Given the description of an element on the screen output the (x, y) to click on. 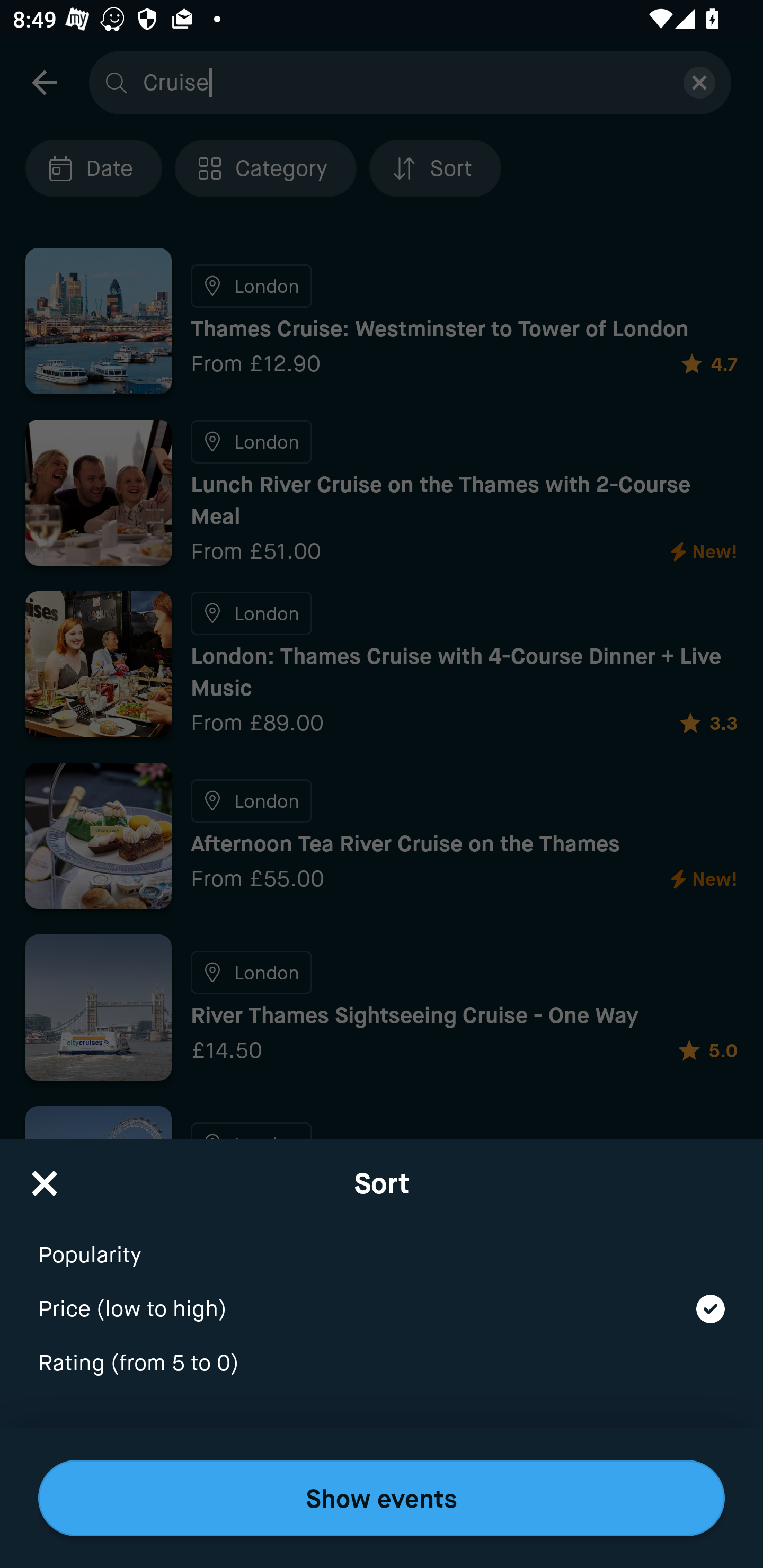
CloseButton (44, 1177)
Popularity (381, 1243)
Price (low to high) Selected Icon (381, 1297)
Rating (from 5 to 0) (381, 1362)
Show events (381, 1497)
